Given the description of an element on the screen output the (x, y) to click on. 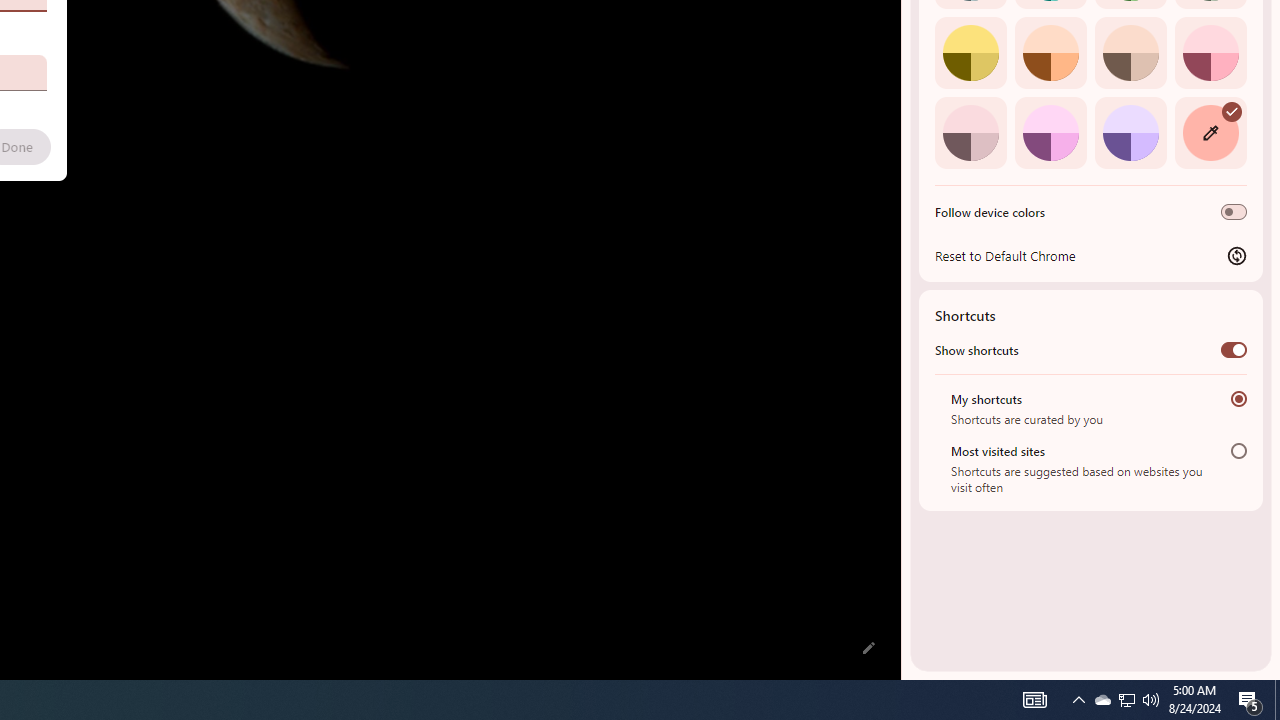
My shortcuts (1238, 398)
